Given the description of an element on the screen output the (x, y) to click on. 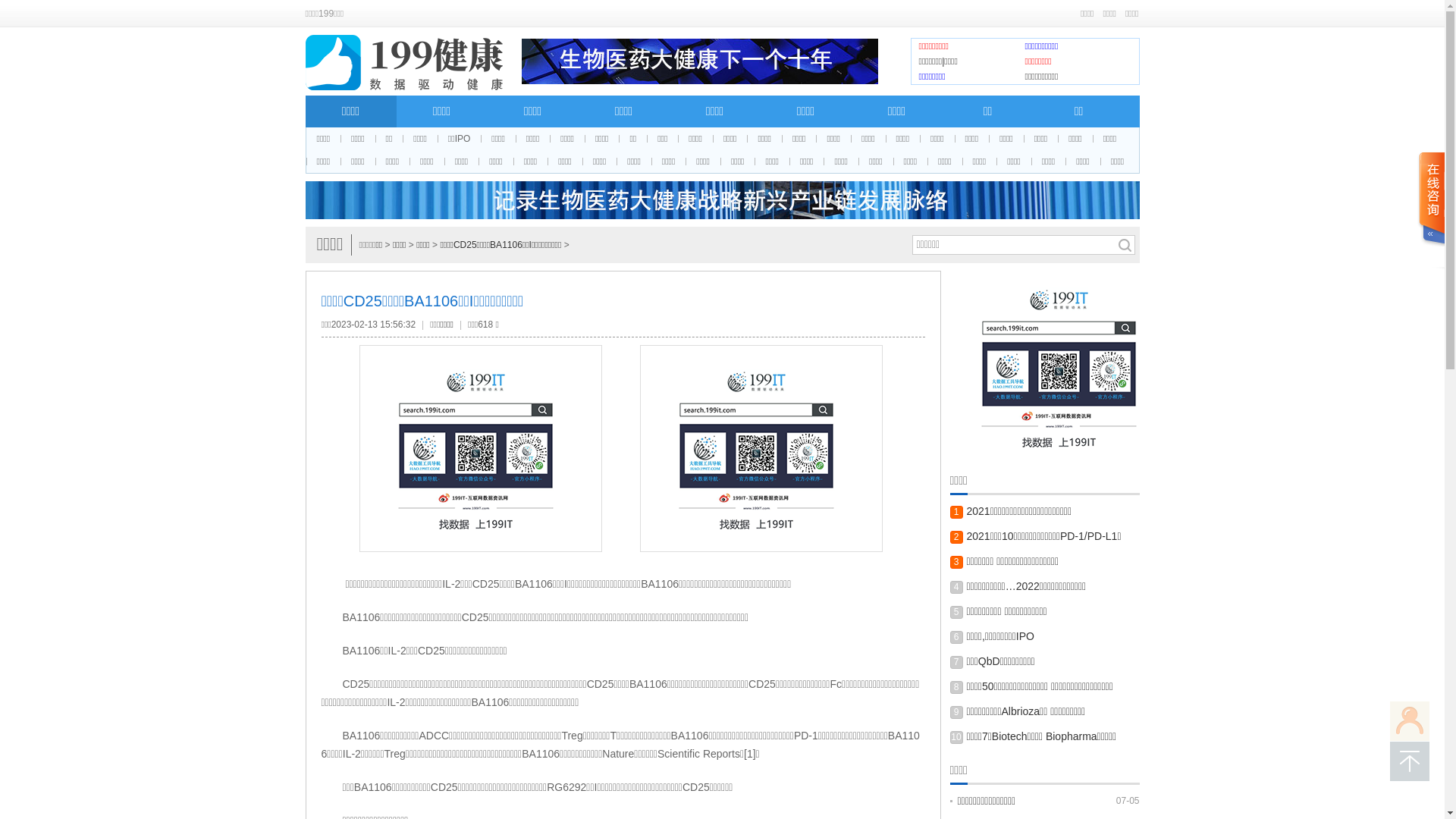
  Element type: text (1430, 210)
